Given the description of an element on the screen output the (x, y) to click on. 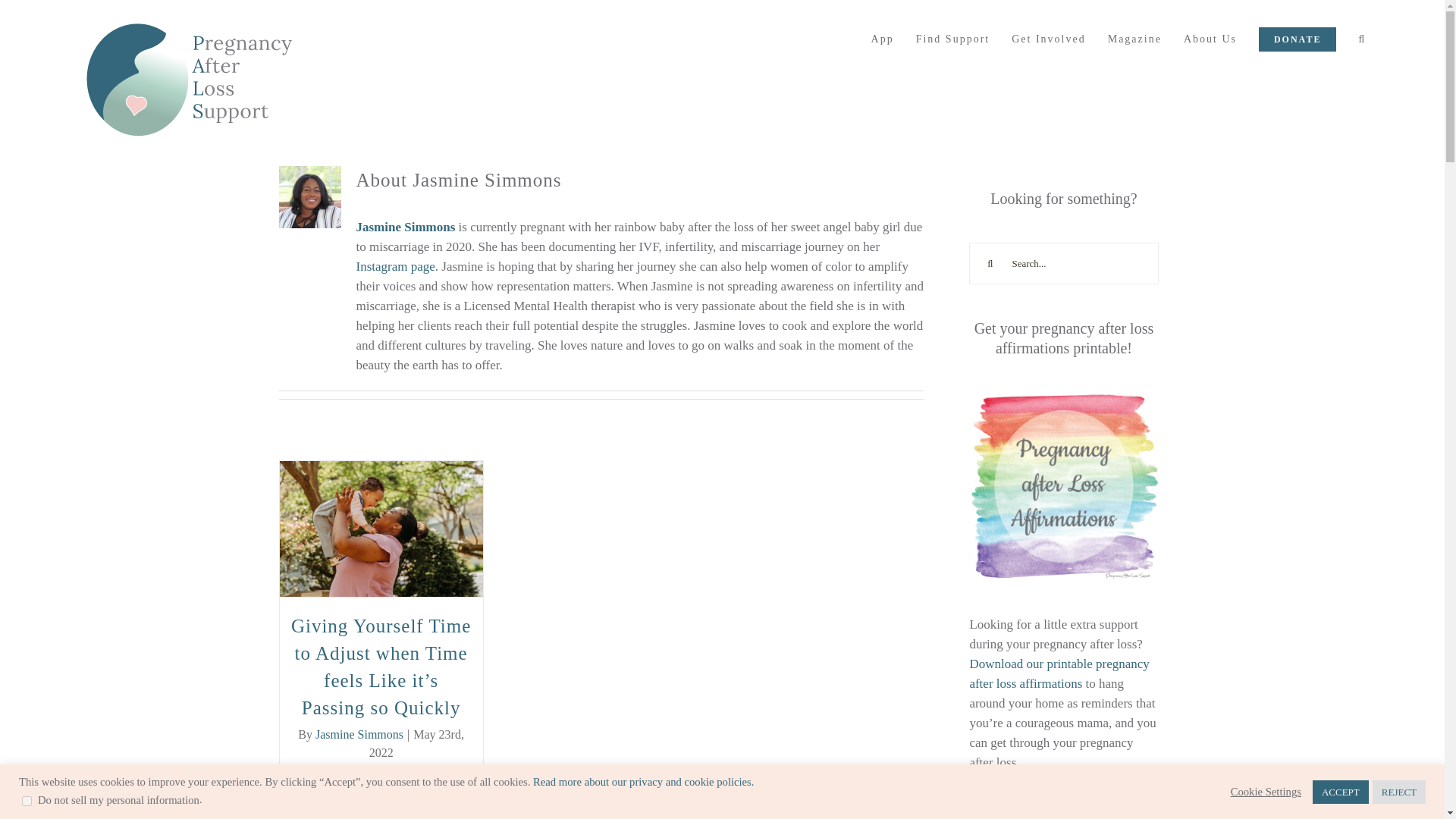
on (26, 800)
Find Support (952, 39)
Get Involved (1047, 39)
Posts by Jasmine Simmons (359, 734)
